Given the description of an element on the screen output the (x, y) to click on. 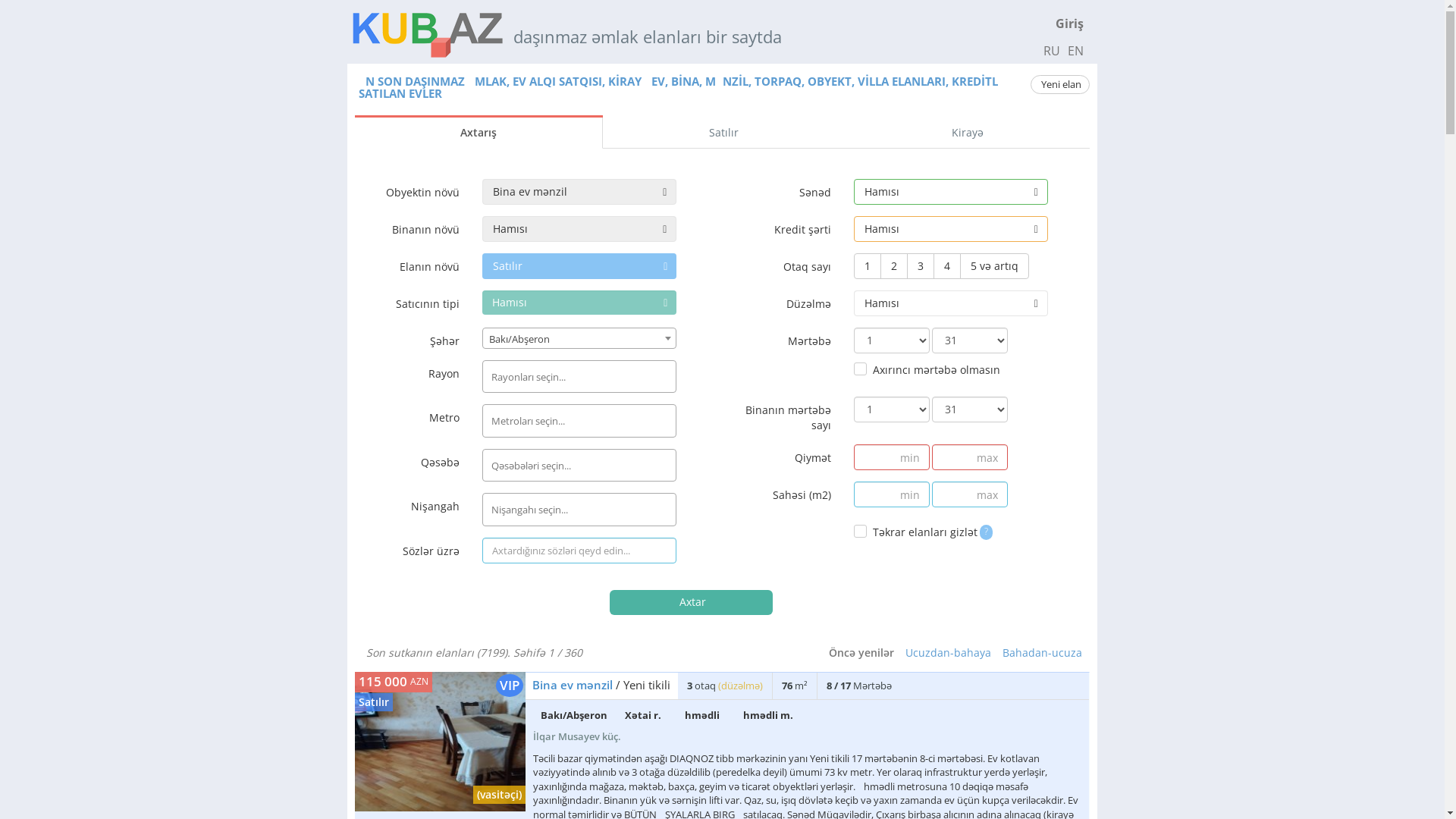
Bahadan-ucuza Element type: text (1042, 652)
Ucuzdan-bahaya Element type: text (948, 652)
? Element type: text (985, 530)
Yeni elan Element type: text (1059, 84)
Axtar Element type: text (690, 602)
EN Element type: text (1075, 50)
RU Element type: text (1051, 50)
